Given the description of an element on the screen output the (x, y) to click on. 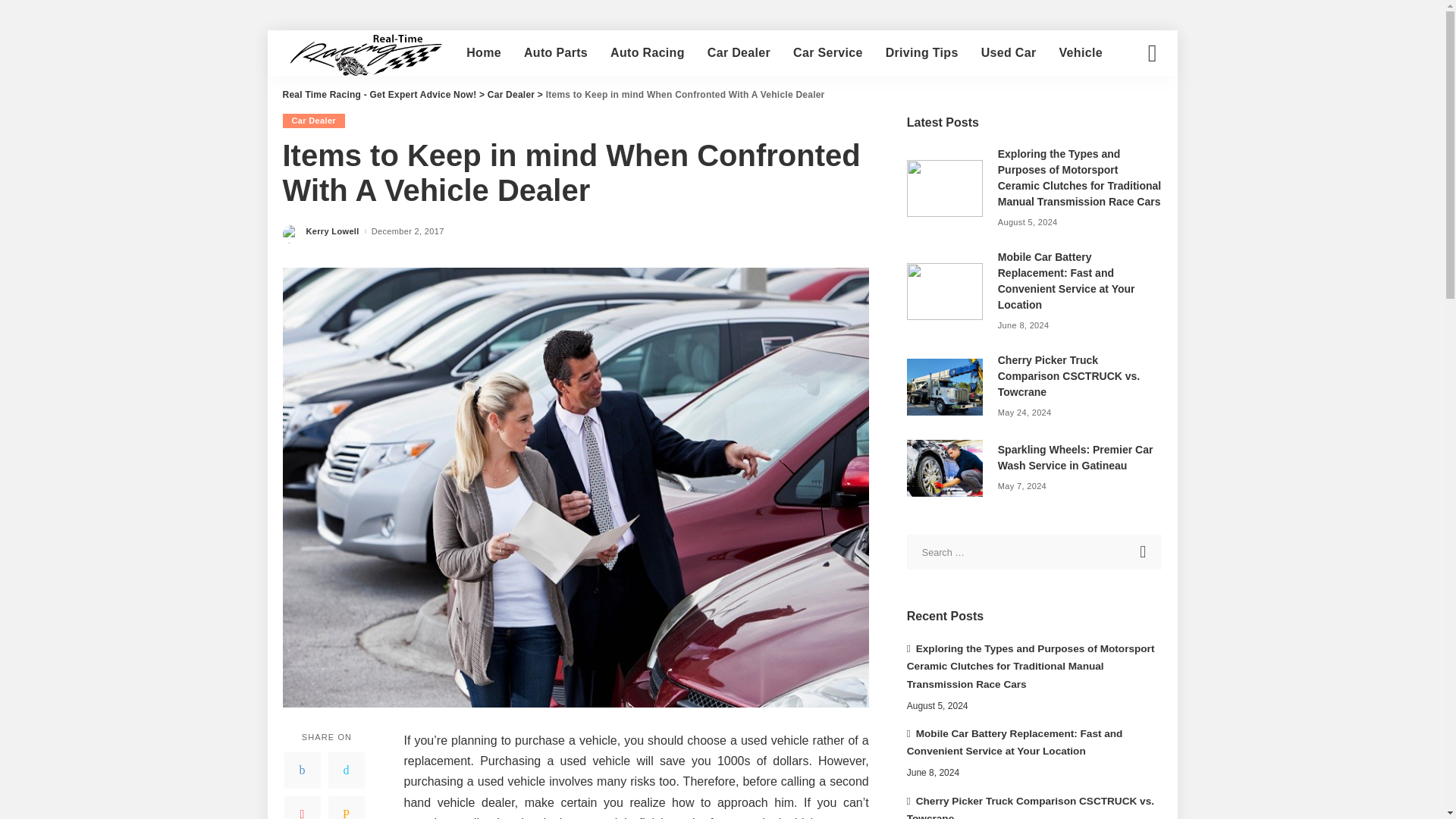
Real Time Racing - Get Expert Advice Now! (379, 94)
Auto Parts (555, 53)
Twitter (345, 770)
Driving Tips (922, 53)
Car Dealer (510, 94)
Vehicle (1079, 53)
Search (1143, 551)
Auto Racing (646, 53)
Car Dealer (312, 120)
Used Car (1008, 53)
